Given the description of an element on the screen output the (x, y) to click on. 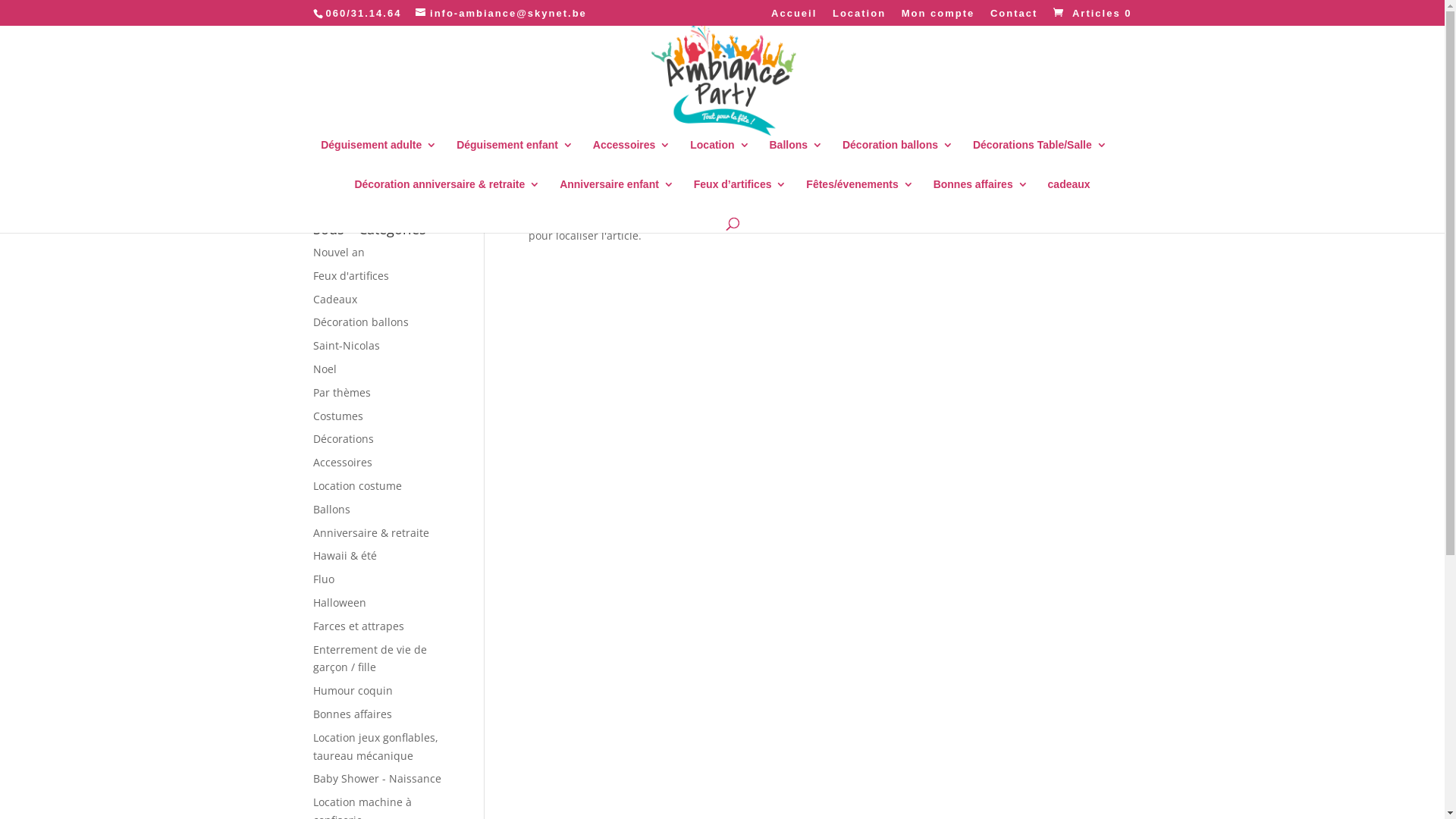
Location costume Element type: text (356, 485)
Feux d'artifices Element type: text (350, 275)
Halloween Element type: text (338, 602)
Location Element type: text (858, 16)
Contact Element type: text (1013, 16)
cadeaux Element type: text (1069, 195)
Articles 0 Element type: text (1089, 12)
Ballons Element type: text (330, 509)
Accueil Element type: text (793, 16)
Farces et attrapes Element type: text (357, 625)
Nouvel an Element type: text (338, 251)
Cadeaux Element type: text (334, 298)
Baby Shower - Naissance Element type: text (376, 778)
Mon compte Element type: text (938, 16)
Location Element type: text (719, 155)
Saint-Nicolas Element type: text (345, 345)
Noel Element type: text (323, 368)
Accessoires Element type: text (632, 155)
Fluo Element type: text (322, 578)
Anniversaire enfant Element type: text (616, 195)
Costumes Element type: text (337, 415)
Bonnes affaires Element type: text (980, 195)
Ballons Element type: text (795, 155)
Bonnes affaires Element type: text (351, 713)
Humour coquin Element type: text (352, 690)
info-ambiance@skynet.be Element type: text (500, 12)
Anniversaire & retraite Element type: text (370, 532)
Accessoires Element type: text (341, 462)
